Given the description of an element on the screen output the (x, y) to click on. 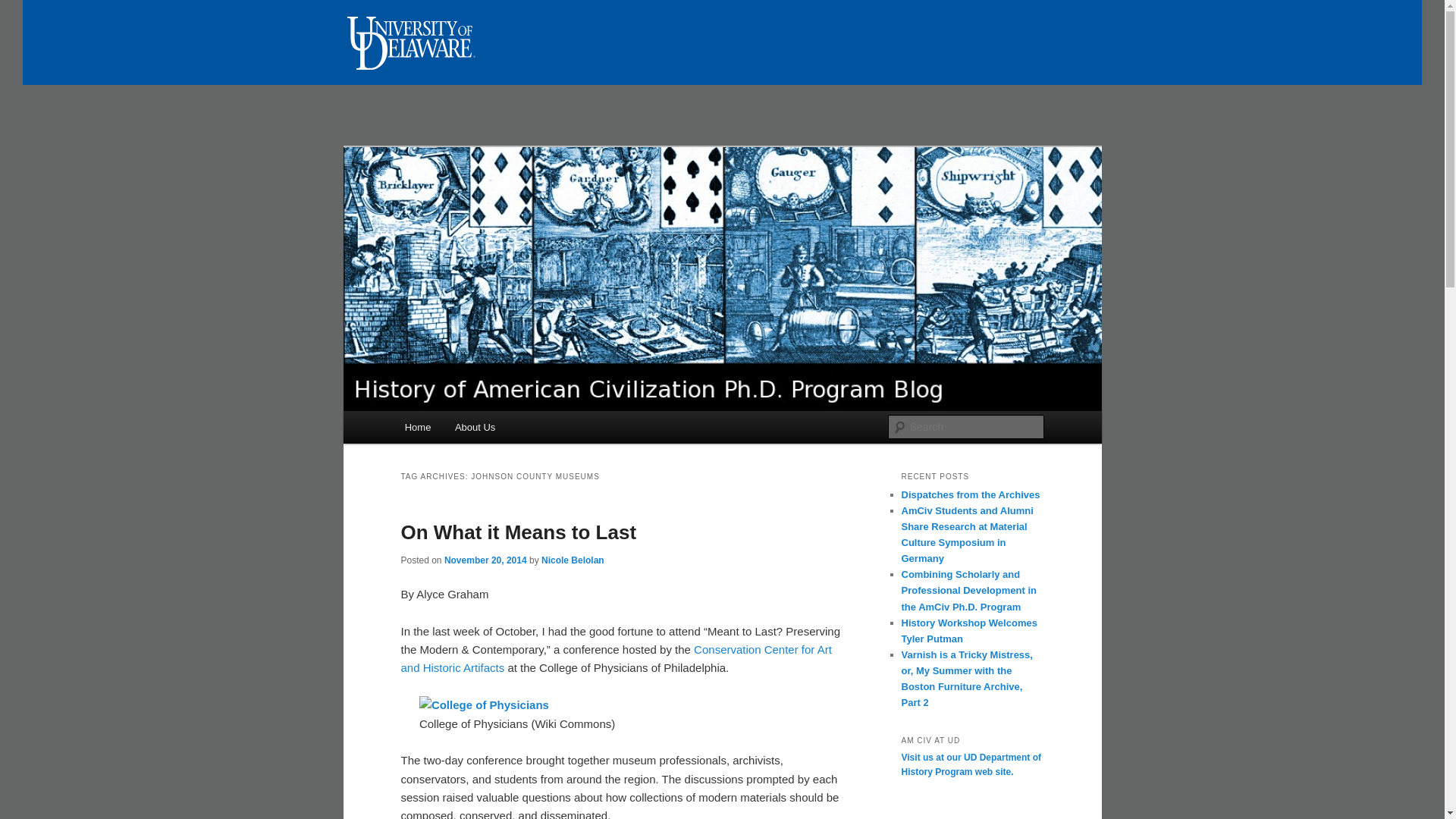
Search (24, 8)
Nicole Belolan (572, 560)
View all posts by Nicole Belolan (572, 560)
Conservation Center for Art and Historic Artifacts (615, 658)
8:55 pm (485, 560)
About Us (474, 427)
Visit us at our UD Department of History Program web site. (971, 765)
History Workshop Welcomes Tyler Putman (968, 630)
On What it Means to Last (518, 531)
Home (417, 427)
Dispatches from the Archives (970, 494)
